Given the description of an element on the screen output the (x, y) to click on. 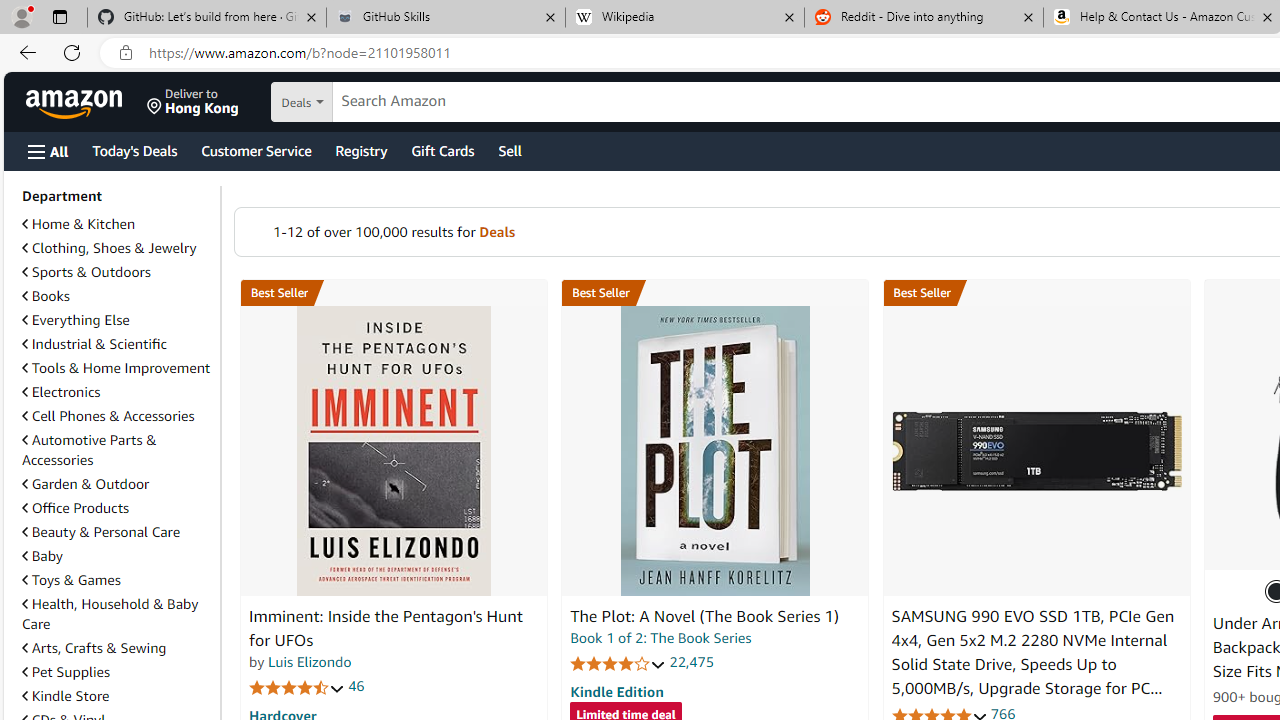
Registry (360, 150)
Tools & Home Improvement (116, 368)
Deliver to Hong Kong (193, 101)
Sports & Outdoors (117, 272)
Electronics (61, 392)
Office Products (75, 507)
Sell (509, 150)
Best Seller in Unexplained Mysteries (393, 293)
Toys & Games (71, 579)
Kindle Store (65, 695)
46 (356, 686)
Baby (117, 555)
Book 1 of 2: The Book Series (660, 638)
